Given the description of an element on the screen output the (x, y) to click on. 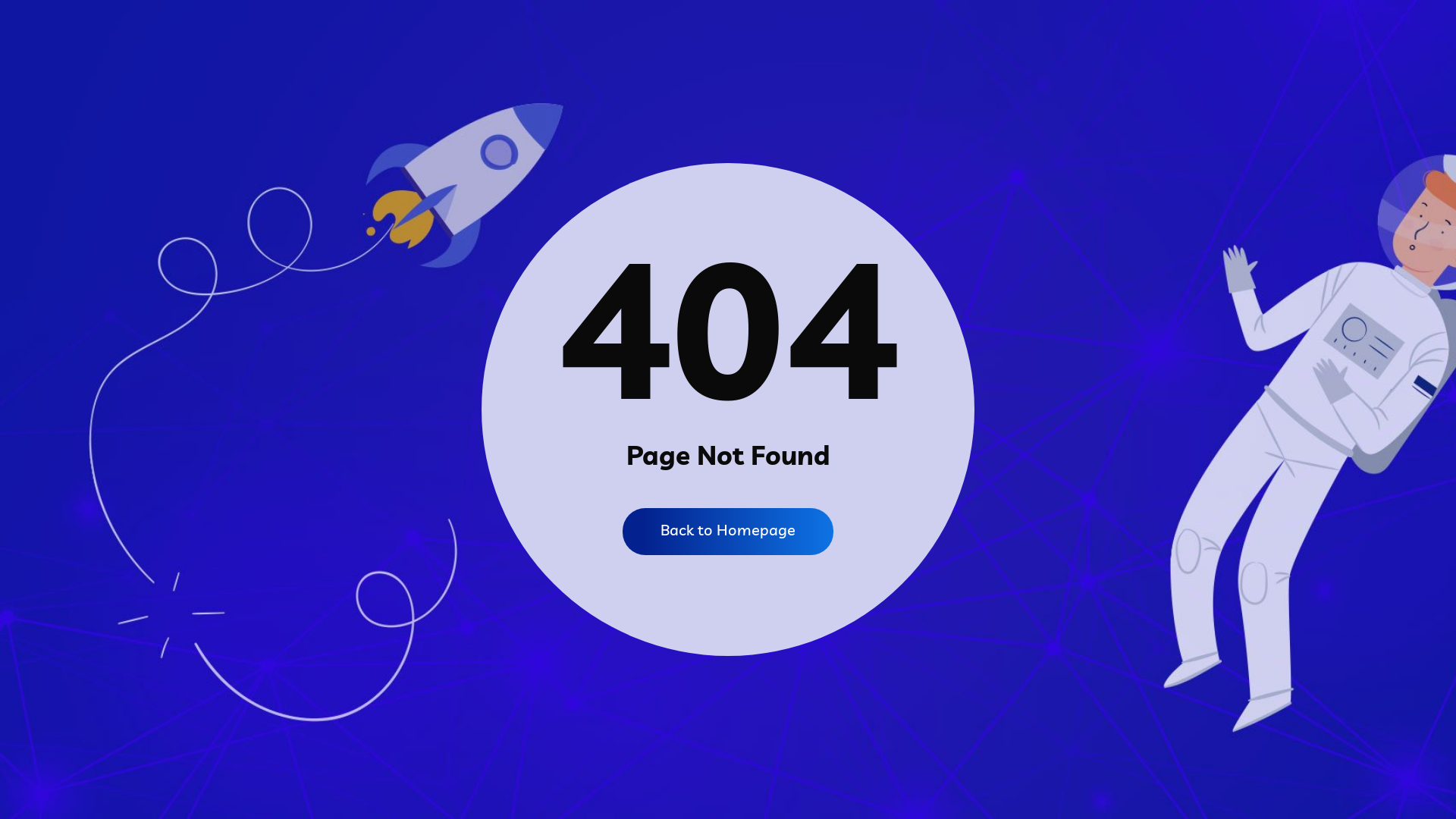
Back to Homepage Element type: text (727, 531)
